Given the description of an element on the screen output the (x, y) to click on. 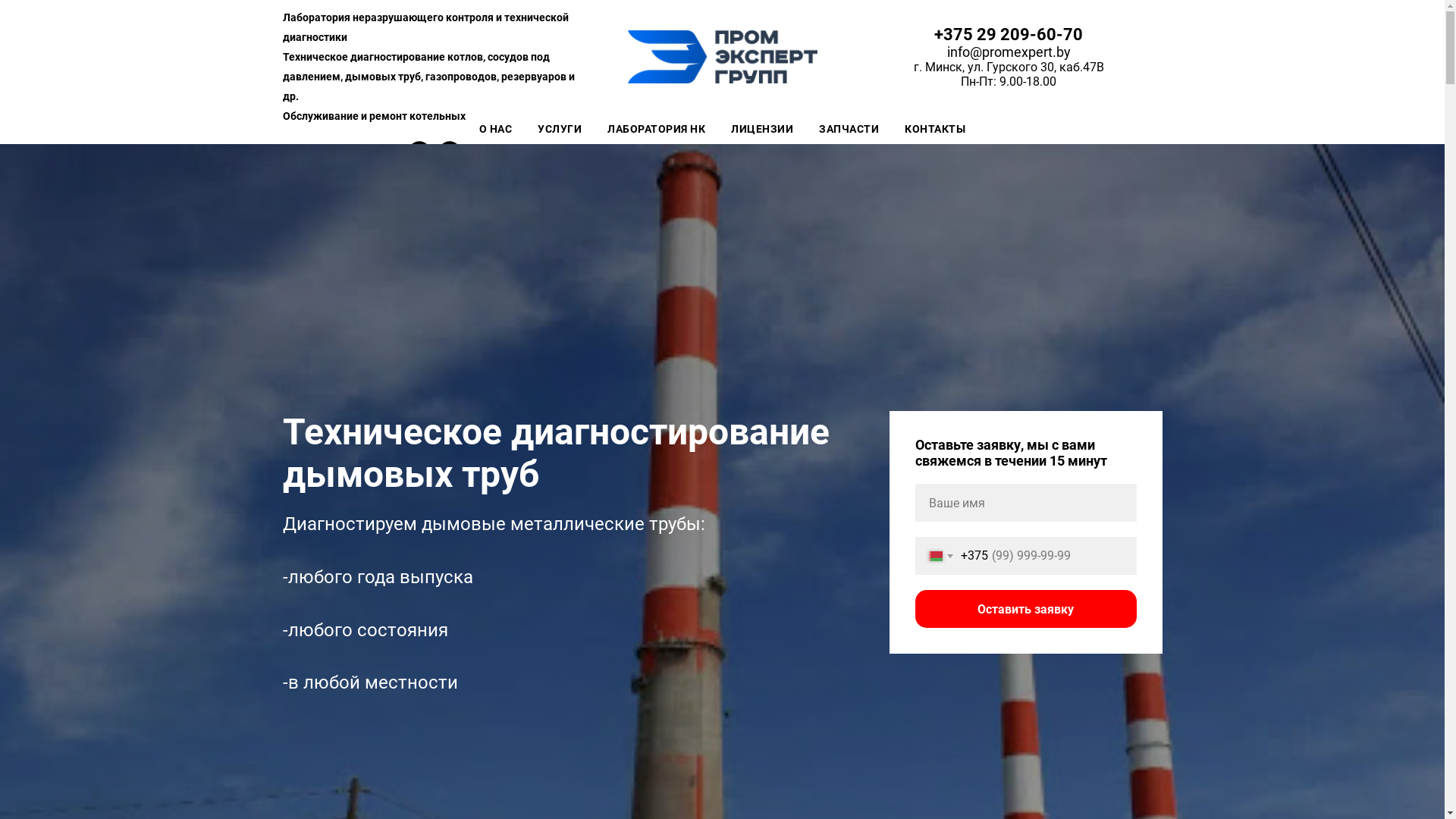
Instagram Element type: text (449, 159)
Facebook Element type: text (418, 159)
